Given the description of an element on the screen output the (x, y) to click on. 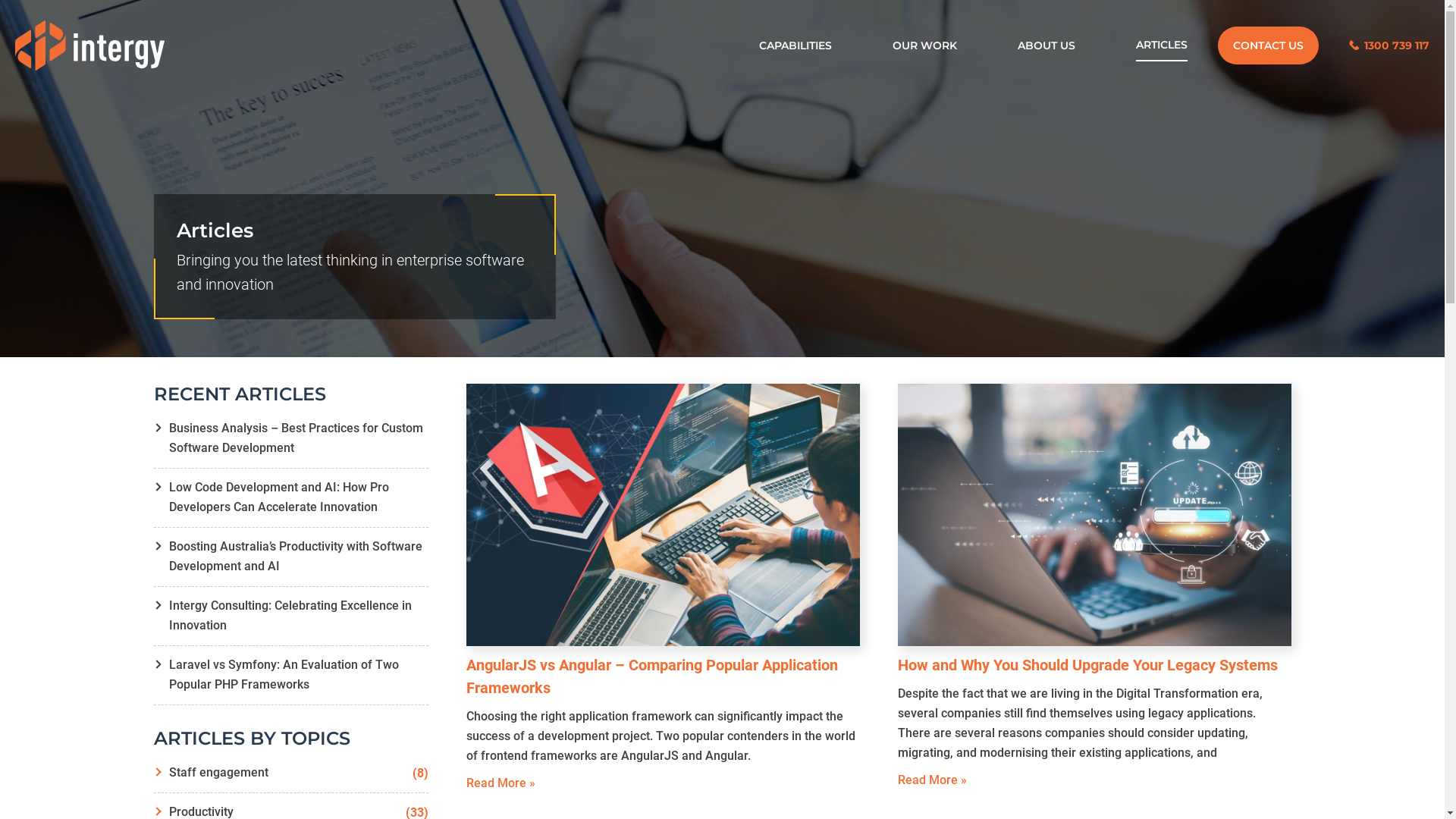
ABOUT US Element type: text (1046, 45)
Staff engagement Element type: text (290, 772)
CAPABILITIES Element type: text (795, 45)
CONTACT US Element type: text (1268, 45)
OUR WORK Element type: text (924, 45)
ARTICLES Element type: text (1161, 45)
How and Why You Should Upgrade Your Legacy Systems Element type: text (1087, 664)
1300 739 117 Element type: text (1389, 45)
Intergy Consulting: Celebrating Excellence in Innovation Element type: text (290, 615)
